Given the description of an element on the screen output the (x, y) to click on. 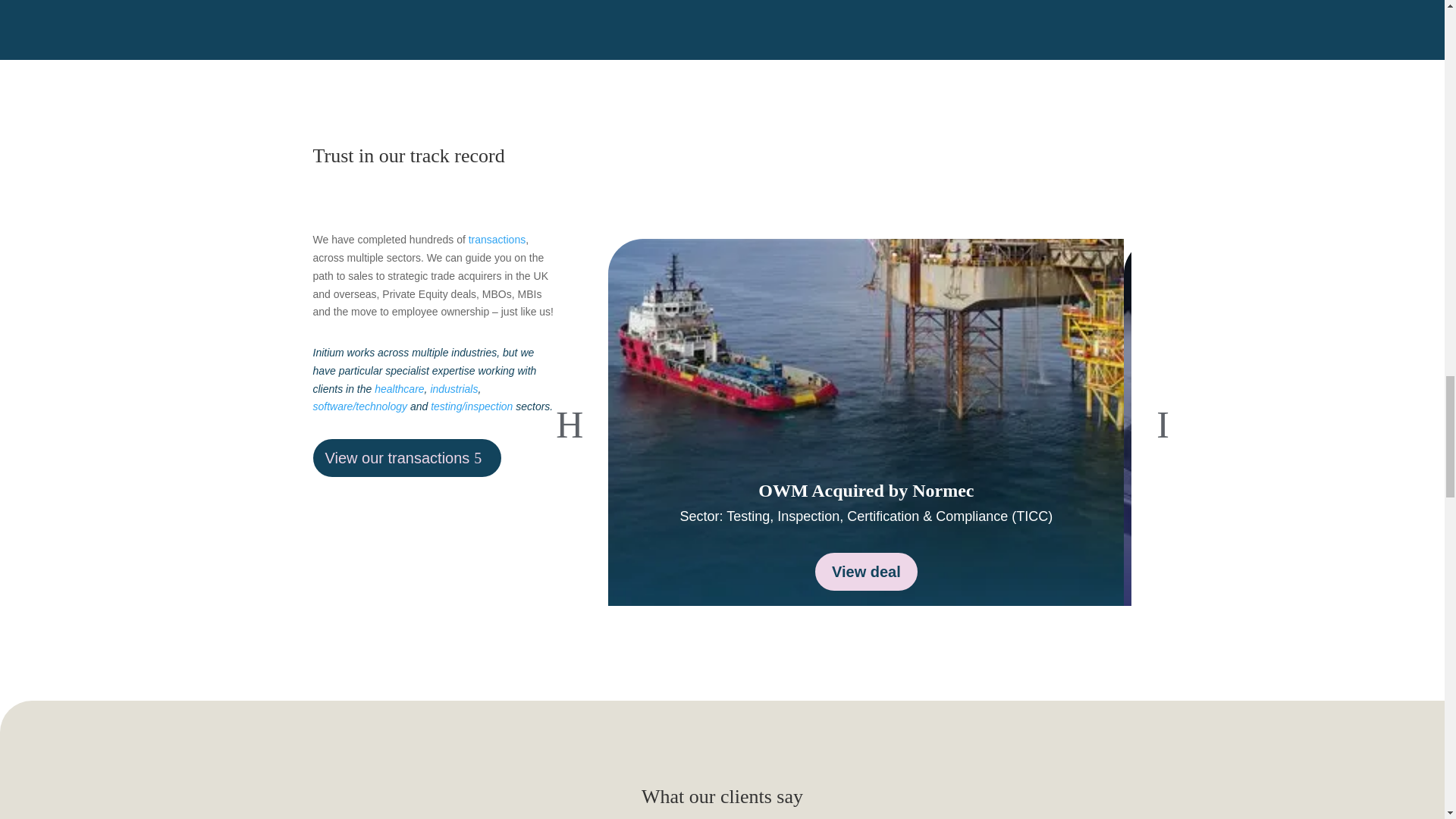
View our transactions (406, 457)
transactions (496, 239)
industrials (453, 388)
healthcare (398, 388)
